Given the description of an element on the screen output the (x, y) to click on. 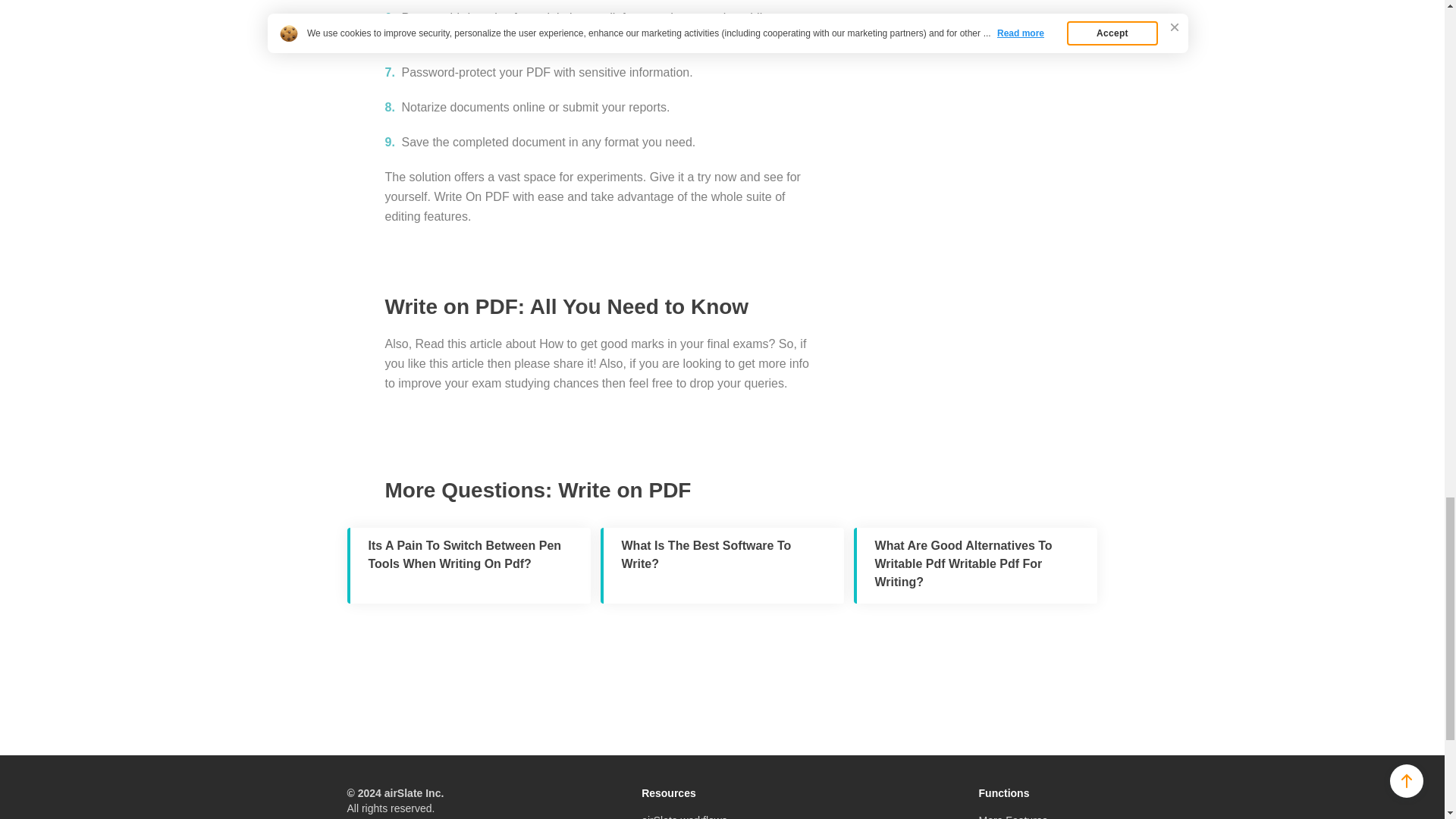
What Is The Best Software To Write? (721, 565)
airSlate workflows (684, 816)
Its A Pain To Switch Between Pen Tools When Writing On Pdf? (469, 565)
More Features (1013, 816)
